Given the description of an element on the screen output the (x, y) to click on. 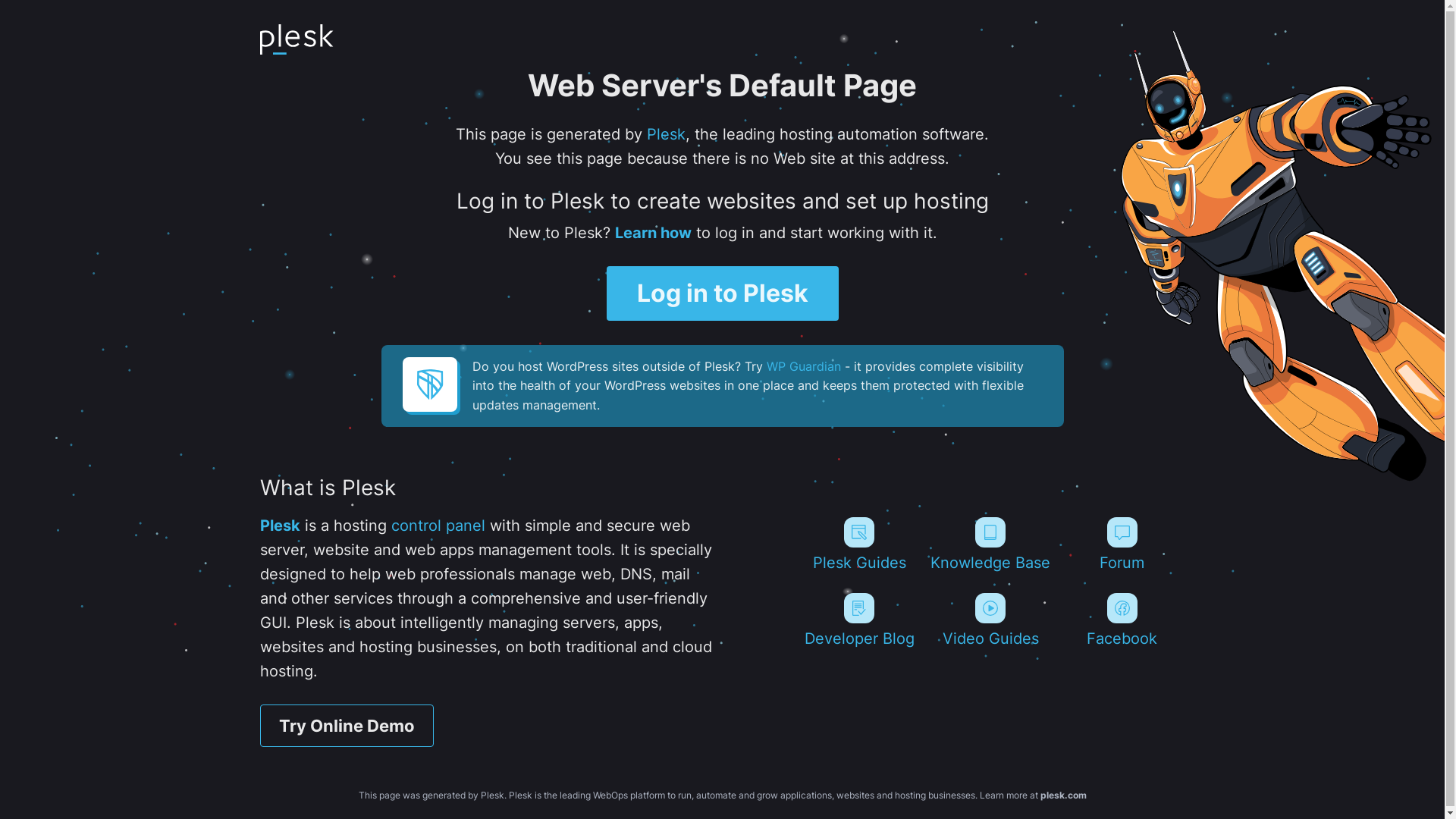
Try Online Demo Element type: text (346, 725)
Developer Blog Element type: text (858, 620)
Log in to Plesk Element type: text (722, 293)
Video Guides Element type: text (990, 620)
Forum Element type: text (1121, 544)
WP Guardian Element type: text (802, 365)
Learn how Element type: text (652, 232)
Plesk Guides Element type: text (858, 544)
Plesk Element type: text (279, 525)
control panel Element type: text (438, 525)
Plesk Element type: text (665, 134)
Knowledge Base Element type: text (990, 544)
plesk.com Element type: text (1063, 794)
Facebook Element type: text (1121, 620)
